Given the description of an element on the screen output the (x, y) to click on. 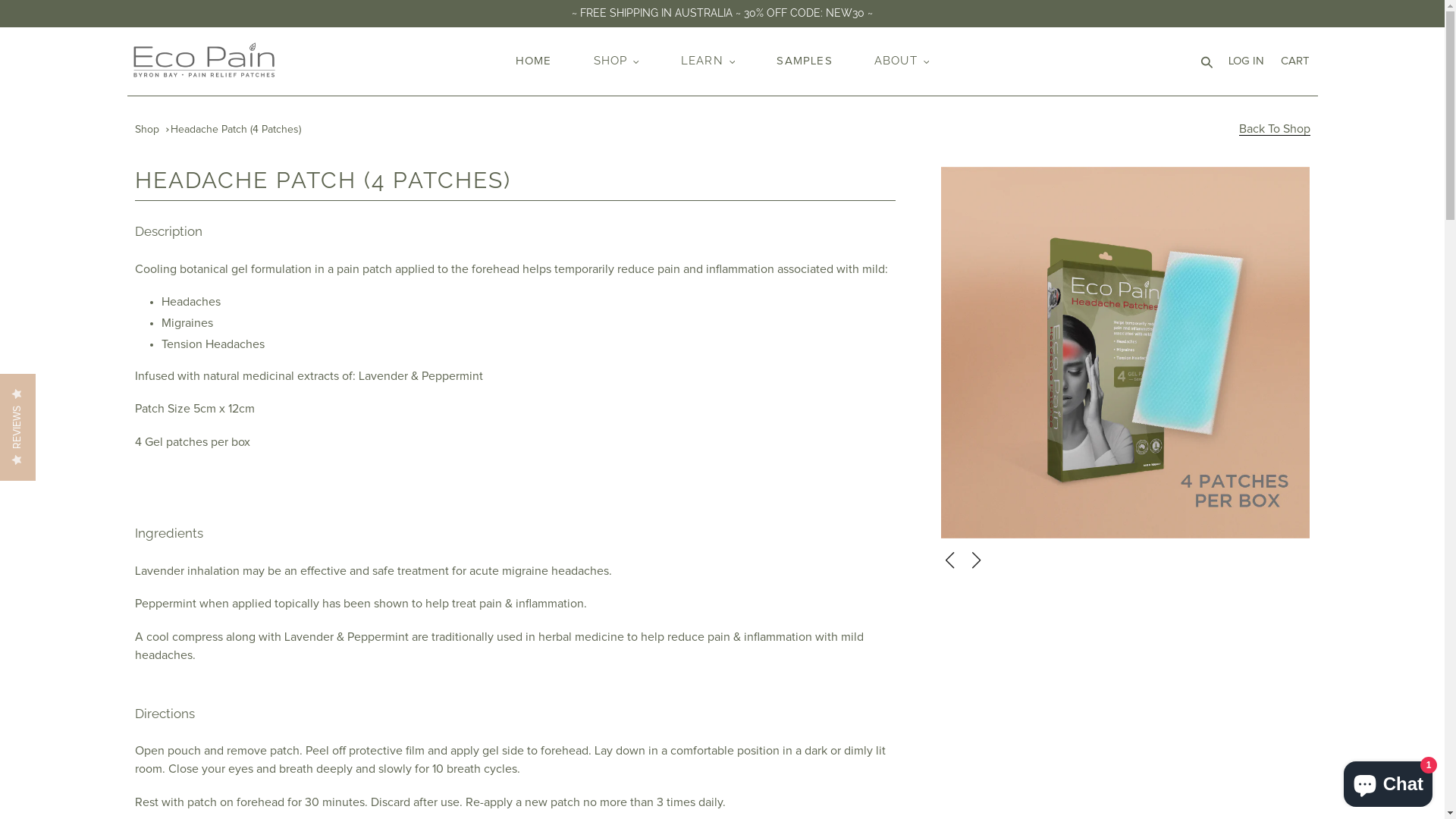
CART
Cart Element type: text (1294, 61)
LOG IN
Log in Element type: text (1245, 61)
Headache Patch (4 Patches) Element type: text (235, 129)
ABOUT Element type: text (901, 61)
 REVIEWS  Element type: text (53, 391)
SHOP Element type: text (616, 61)
Shopify online store chat Element type: hover (1388, 780)
Back To Shop Element type: text (1274, 128)
HOME Element type: text (533, 61)
LEARN Element type: text (708, 61)
SAMPLES Element type: text (803, 61)
Search Element type: text (1207, 61)
Shop Element type: text (146, 129)
